Given the description of an element on the screen output the (x, y) to click on. 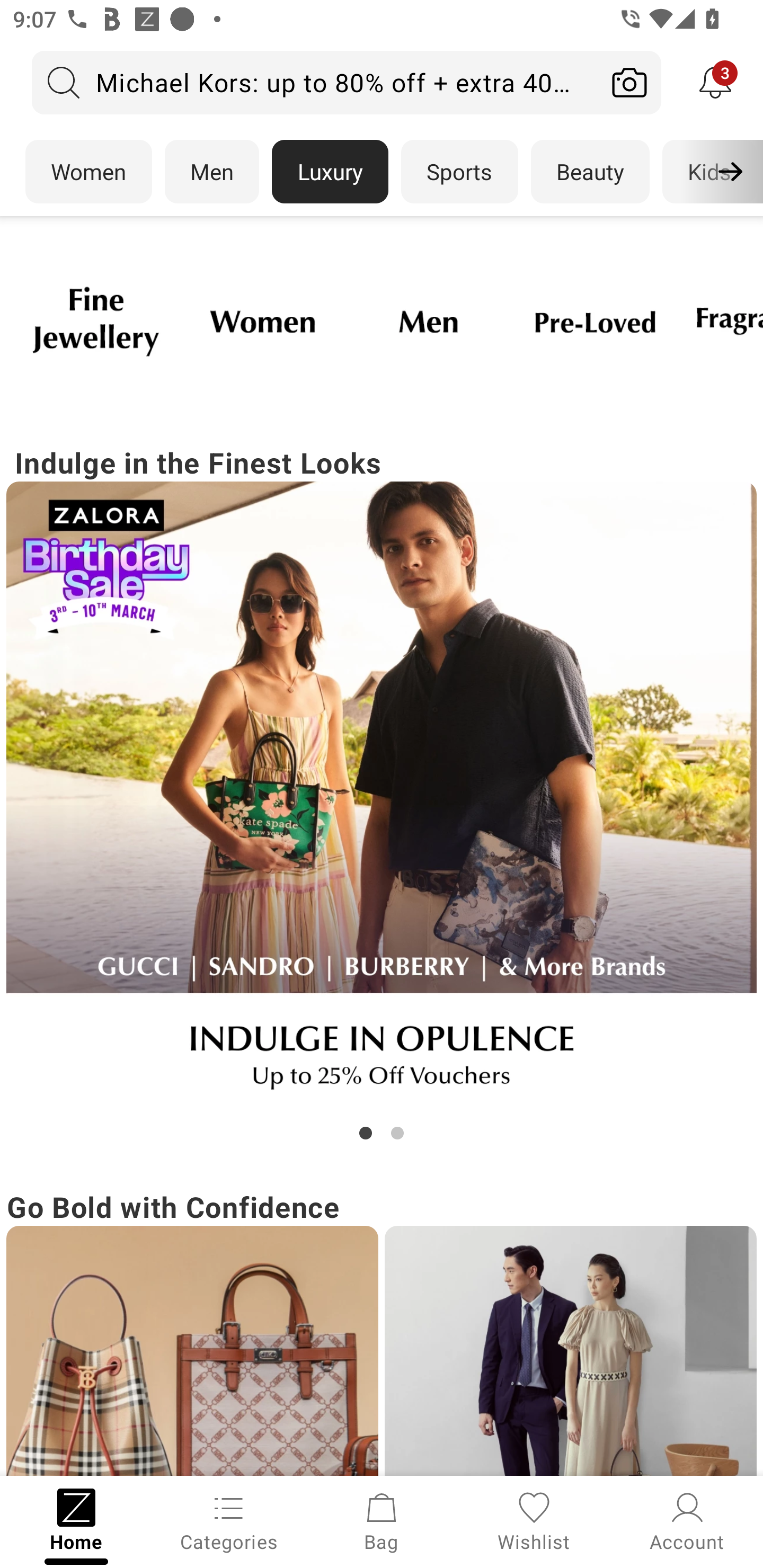
Michael Kors: up to 80% off + extra 40% off (314, 82)
Women (88, 171)
Men (211, 171)
Luxury (329, 171)
Sports (459, 171)
Beauty (590, 171)
Campaign banner (95, 321)
Campaign banner (261, 321)
Campaign banner (428, 321)
Campaign banner (594, 321)
 Indulge in the Finest Looks Campaign banner (381, 792)
Campaign banner (381, 797)
Campaign banner (192, 1350)
Campaign banner (570, 1350)
Categories (228, 1519)
Bag (381, 1519)
Wishlist (533, 1519)
Account (686, 1519)
